Given the description of an element on the screen output the (x, y) to click on. 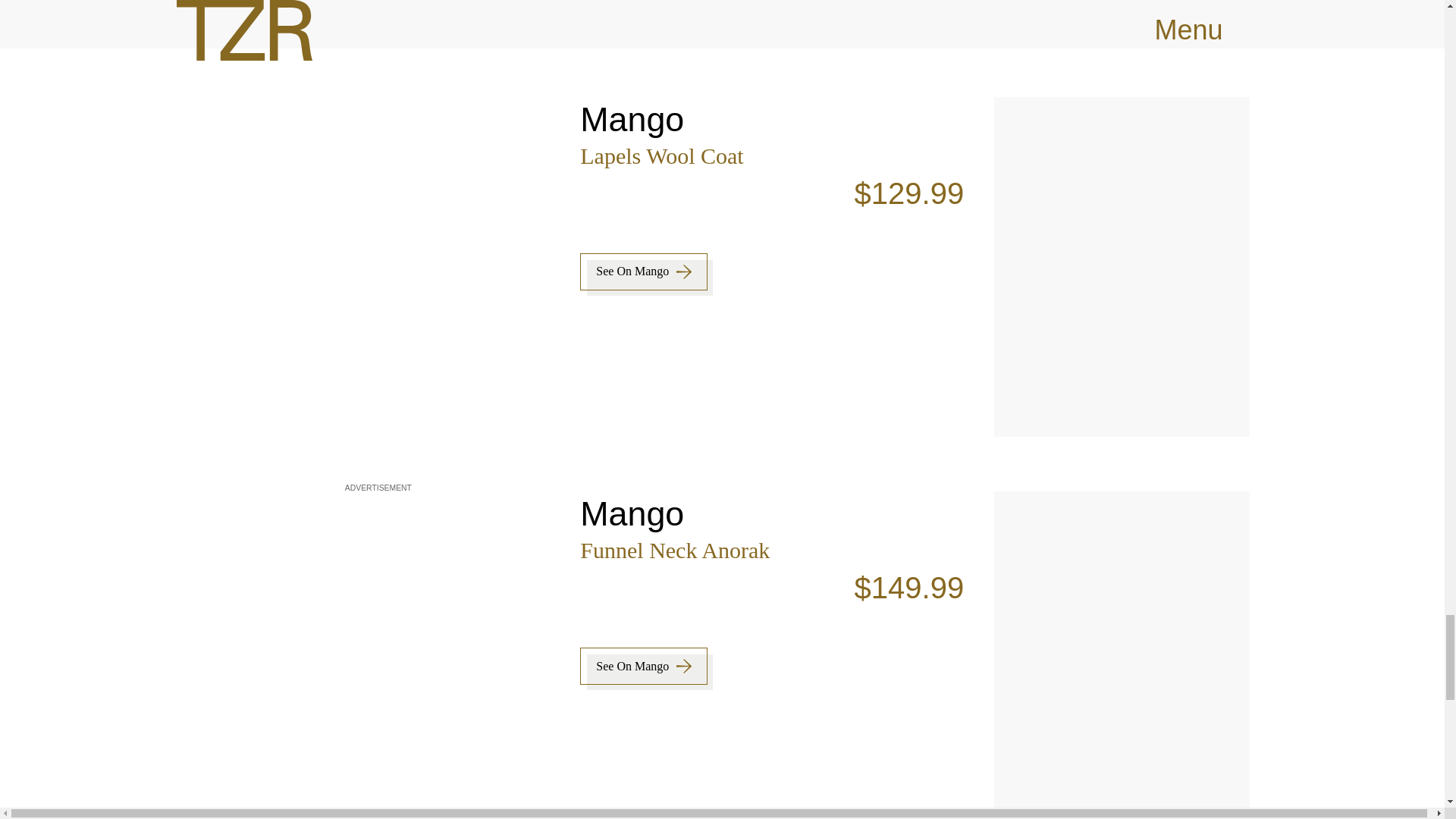
See On Mango (643, 665)
See On Mango (643, 271)
